Given the description of an element on the screen output the (x, y) to click on. 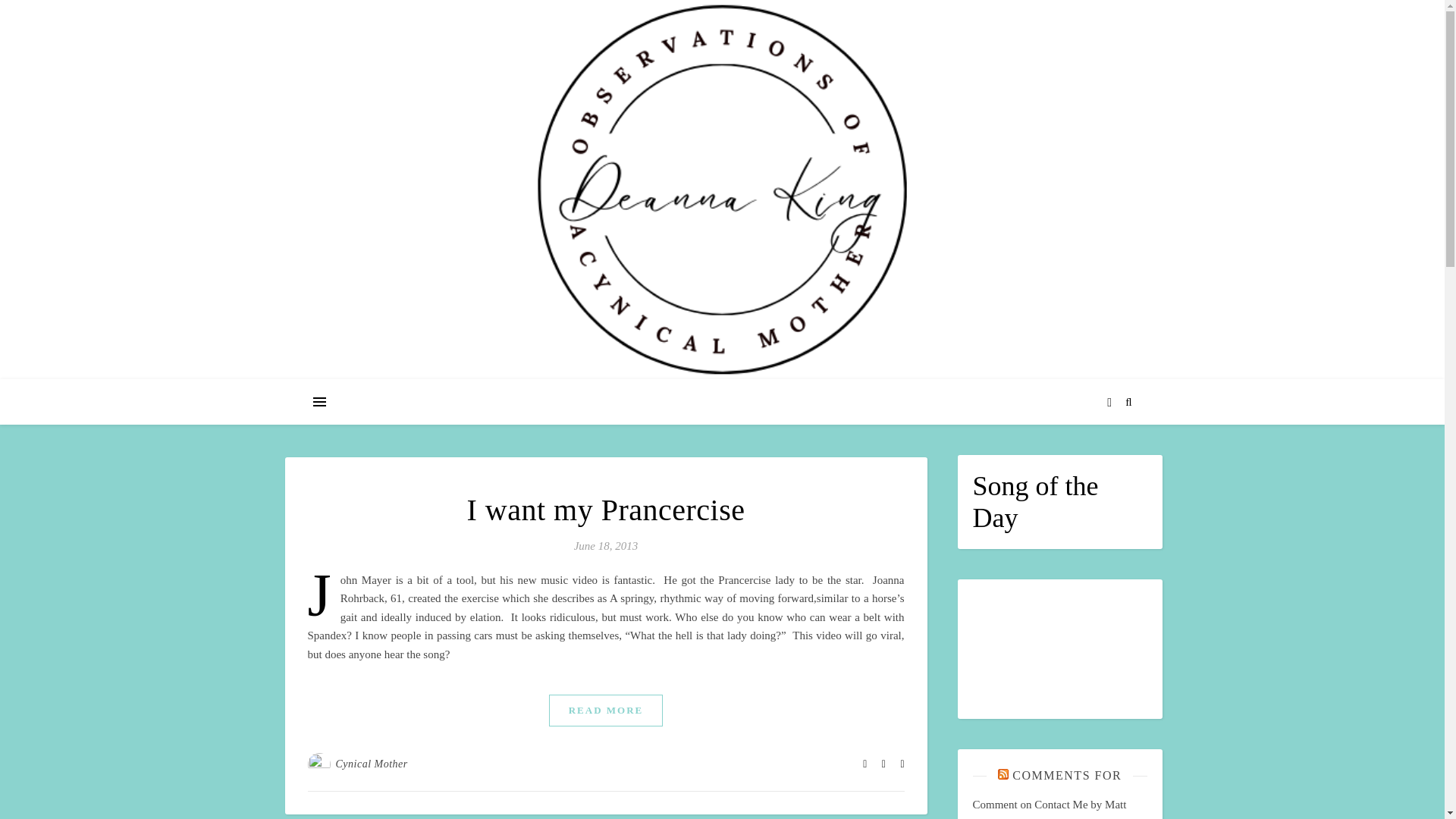
Cynical Mother (370, 763)
Comment on Contact Me by Matt Bauer (1048, 808)
Posts by Cynical Mother (370, 763)
I want my Prancercise (604, 510)
COMMENTS FOR (1066, 775)
READ MORE (605, 710)
